Given the description of an element on the screen output the (x, y) to click on. 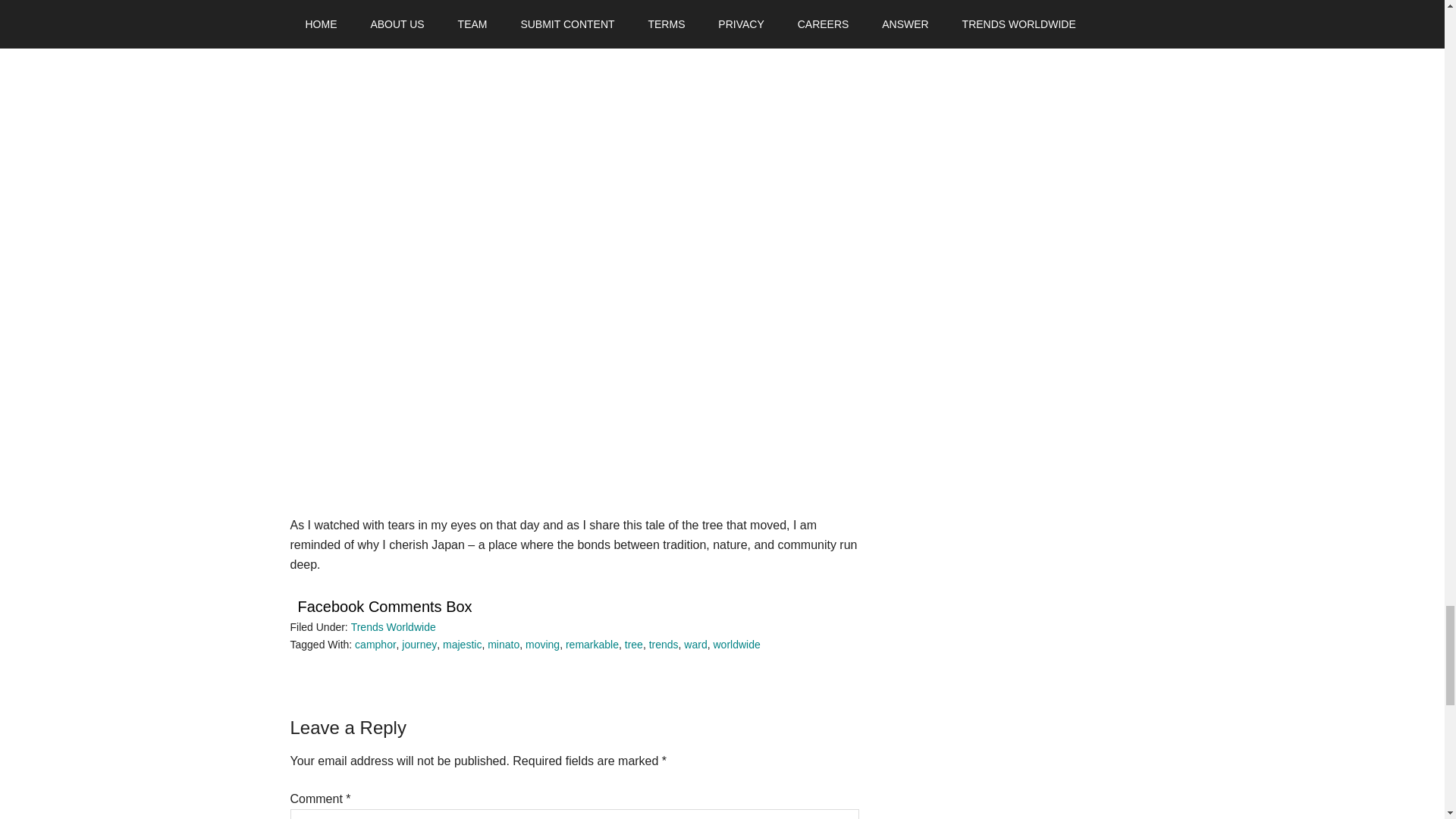
camphor (375, 644)
tree (633, 644)
moving (542, 644)
worldwide (736, 644)
journey (418, 644)
majestic (461, 644)
remarkable (592, 644)
Trends Worldwide (392, 626)
minato (503, 644)
trends (663, 644)
